Given the description of an element on the screen output the (x, y) to click on. 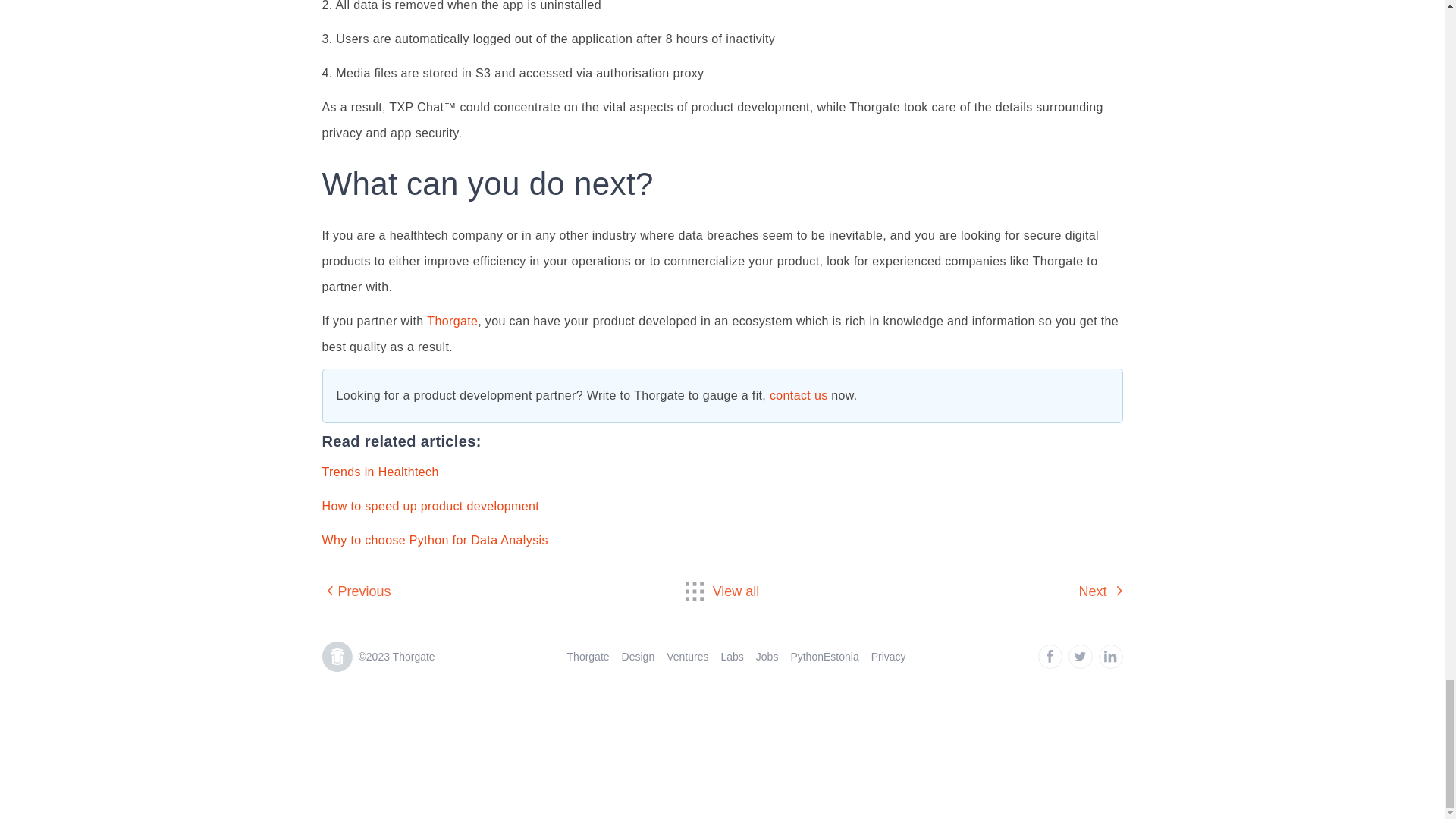
View all (722, 590)
contact us (799, 395)
Previous (355, 590)
How to speed up product development (429, 505)
Labs (731, 656)
Thorgate (451, 320)
Ventures (686, 656)
Trends in Healthtech (379, 472)
Next (1100, 590)
Design (638, 656)
